Given the description of an element on the screen output the (x, y) to click on. 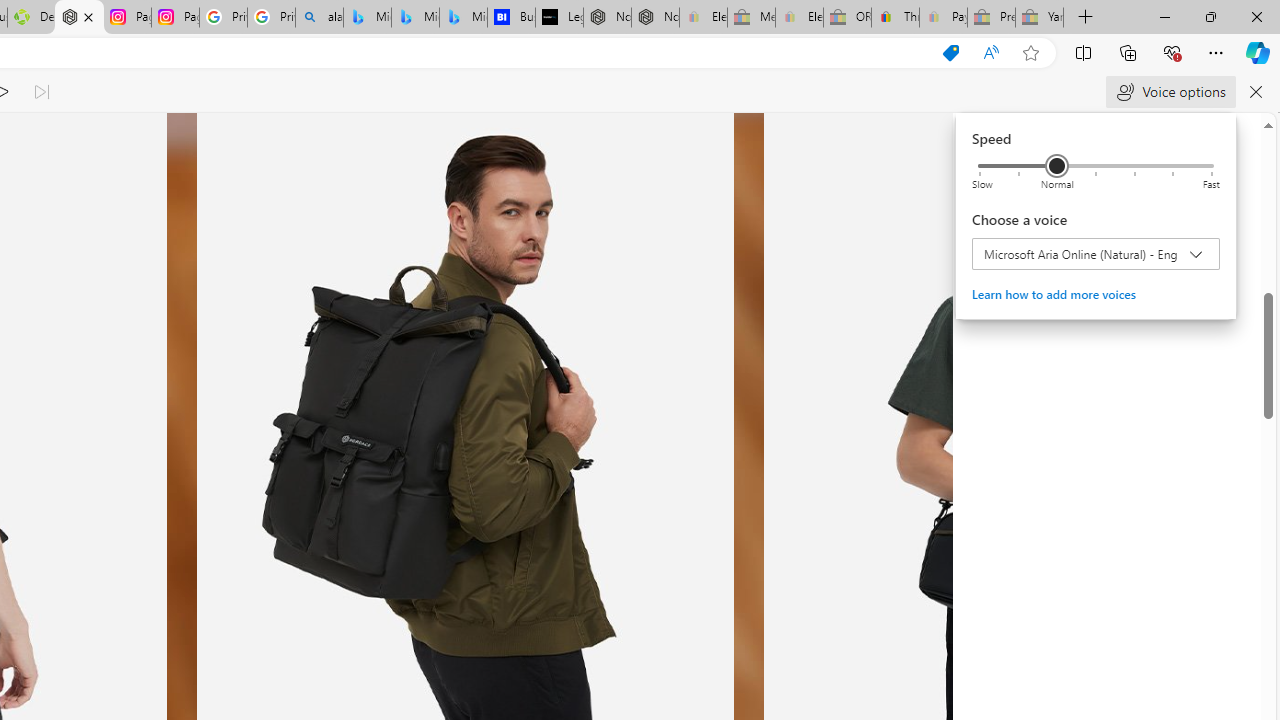
Payments Terms of Use | eBay.com - Sleeping (943, 17)
Close read aloud (991, 53)
alabama high school quarterback dies - Search (319, 17)
Nordace - Nordace Edin Collection (79, 17)
Read next paragraph (40, 92)
